Given the description of an element on the screen output the (x, y) to click on. 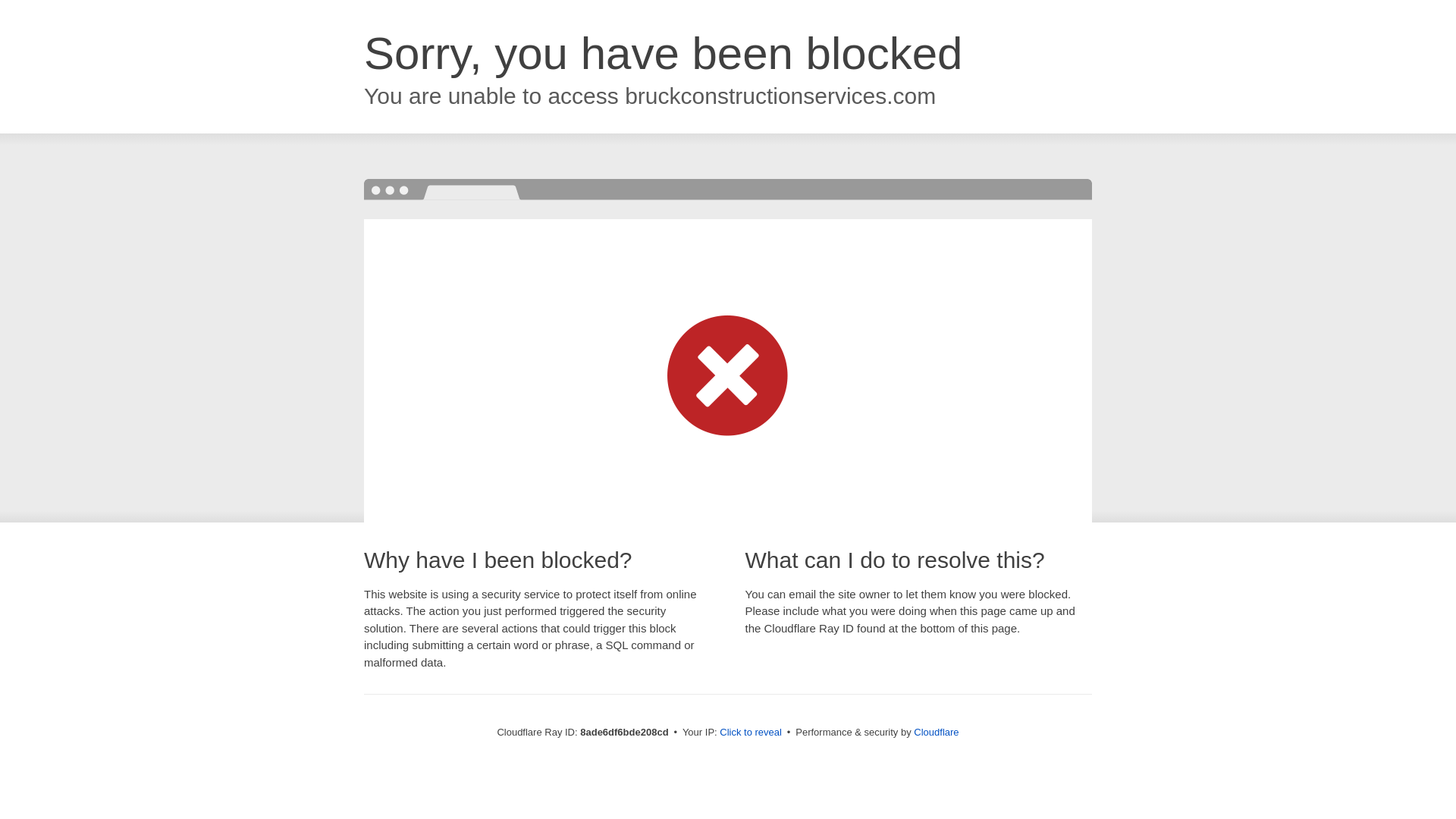
Cloudflare (936, 731)
Click to reveal (750, 732)
